Given the description of an element on the screen output the (x, y) to click on. 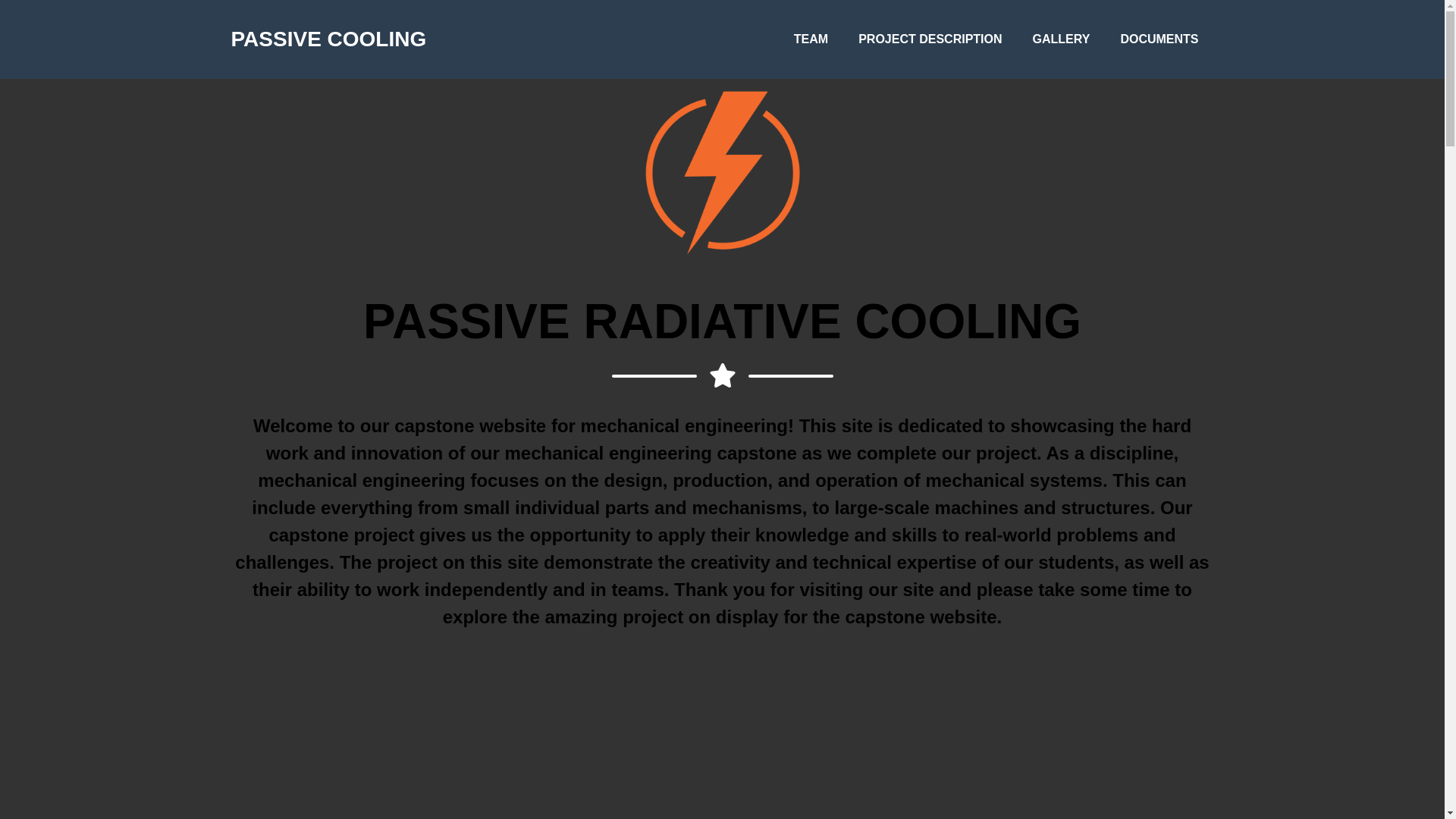
TEAM (810, 39)
PASSIVE COOLING (328, 38)
DOCUMENTS (1158, 39)
GALLERY (1061, 39)
PROJECT DESCRIPTION (929, 39)
